Given the description of an element on the screen output the (x, y) to click on. 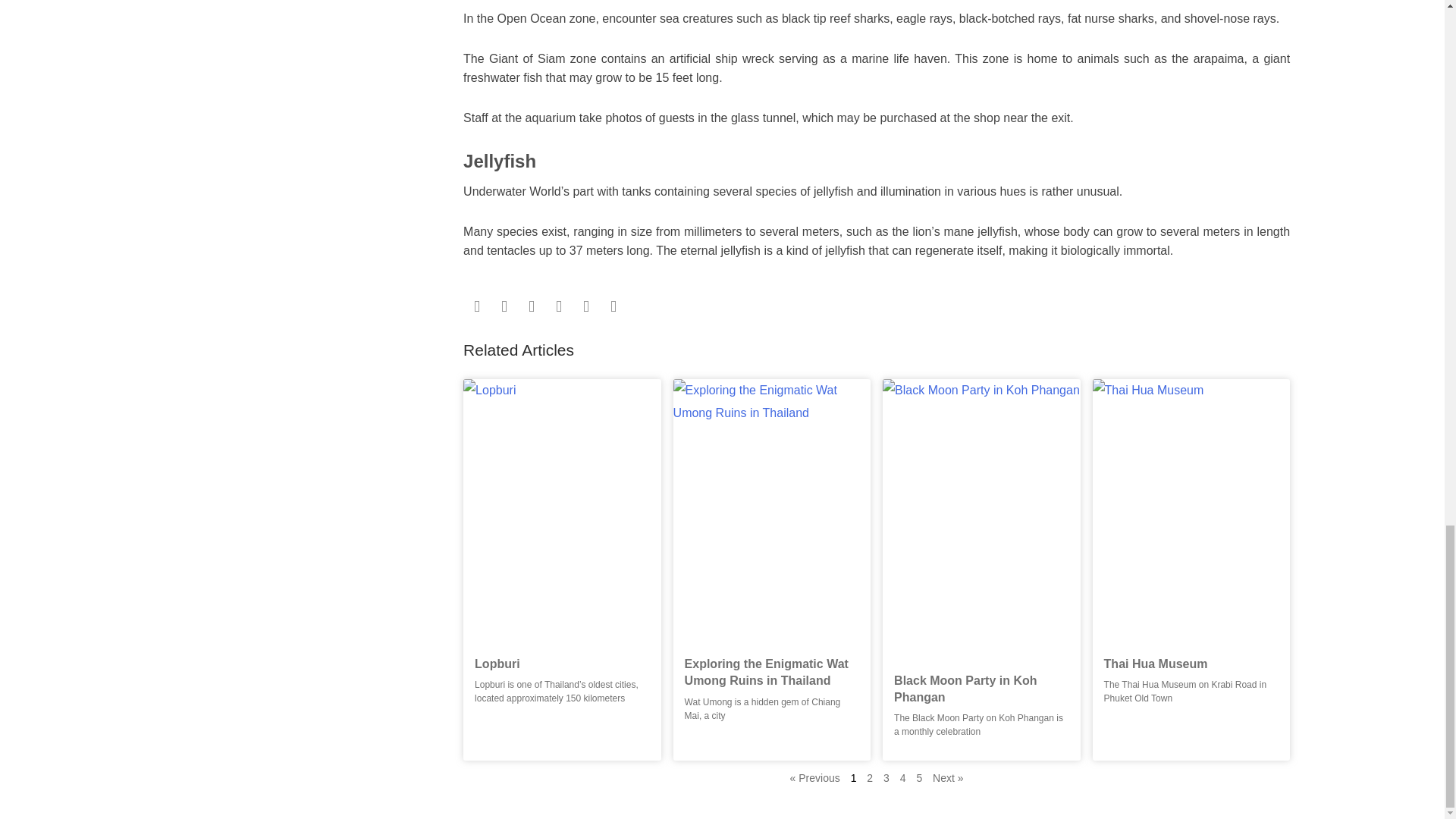
Black Moon Party in Koh Phangan (981, 453)
Lopburi (496, 663)
Exploring the Enigmatic Wat Umong Ruins in Thailand (771, 445)
Exploring the Enigmatic Wat Umong Ruins in Thailand (766, 672)
Thai Hua Museum (1155, 663)
Black Moon Party in Koh Phangan (964, 688)
Thai Hua Museum (1191, 445)
Lopburi (562, 445)
